Given the description of an element on the screen output the (x, y) to click on. 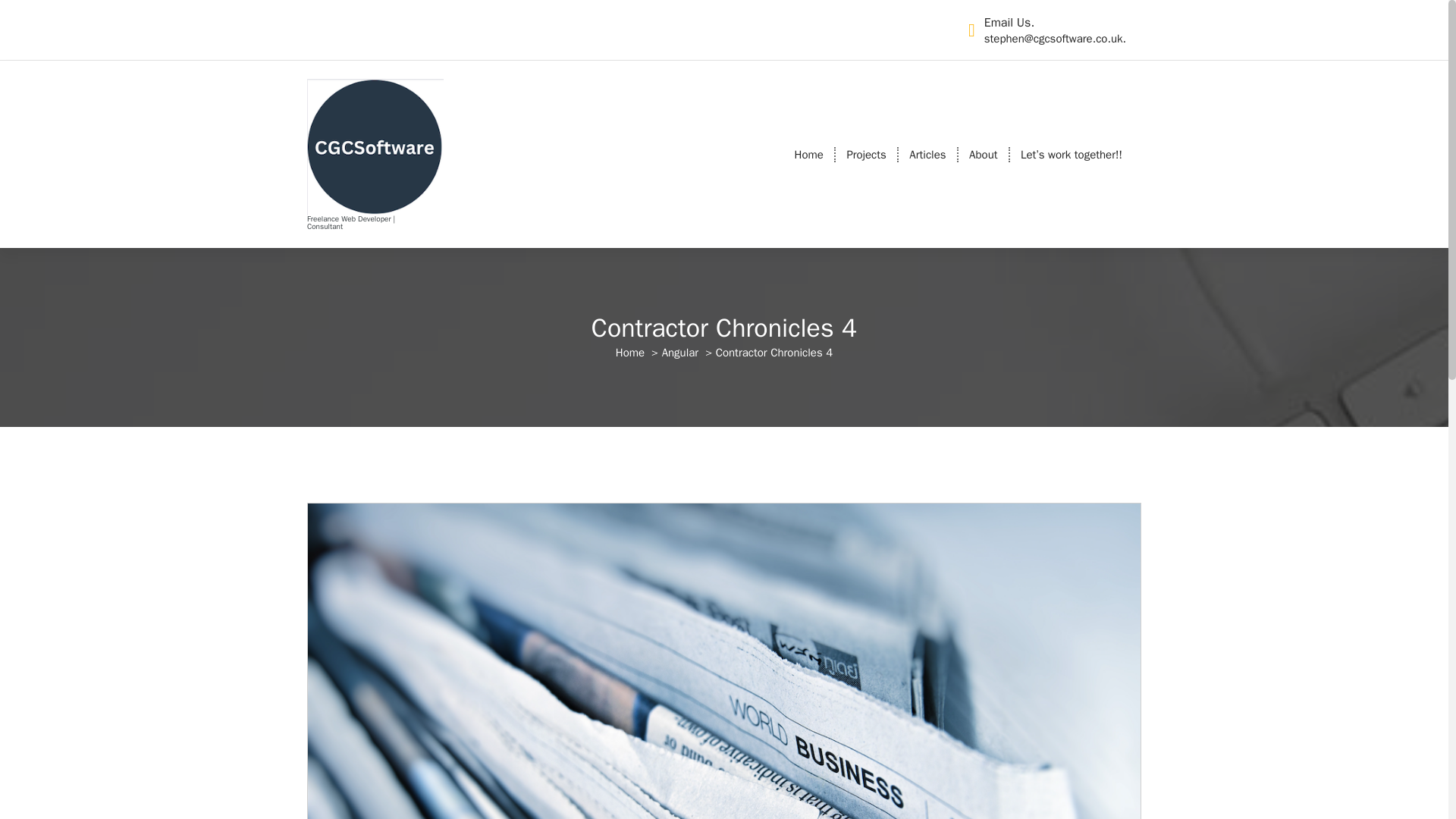
Home (809, 154)
Projects (866, 154)
About (982, 154)
Home (630, 352)
Home (809, 154)
Angular (680, 352)
About (982, 154)
Articles (927, 154)
Articles (927, 154)
Projects (866, 154)
